Given the description of an element on the screen output the (x, y) to click on. 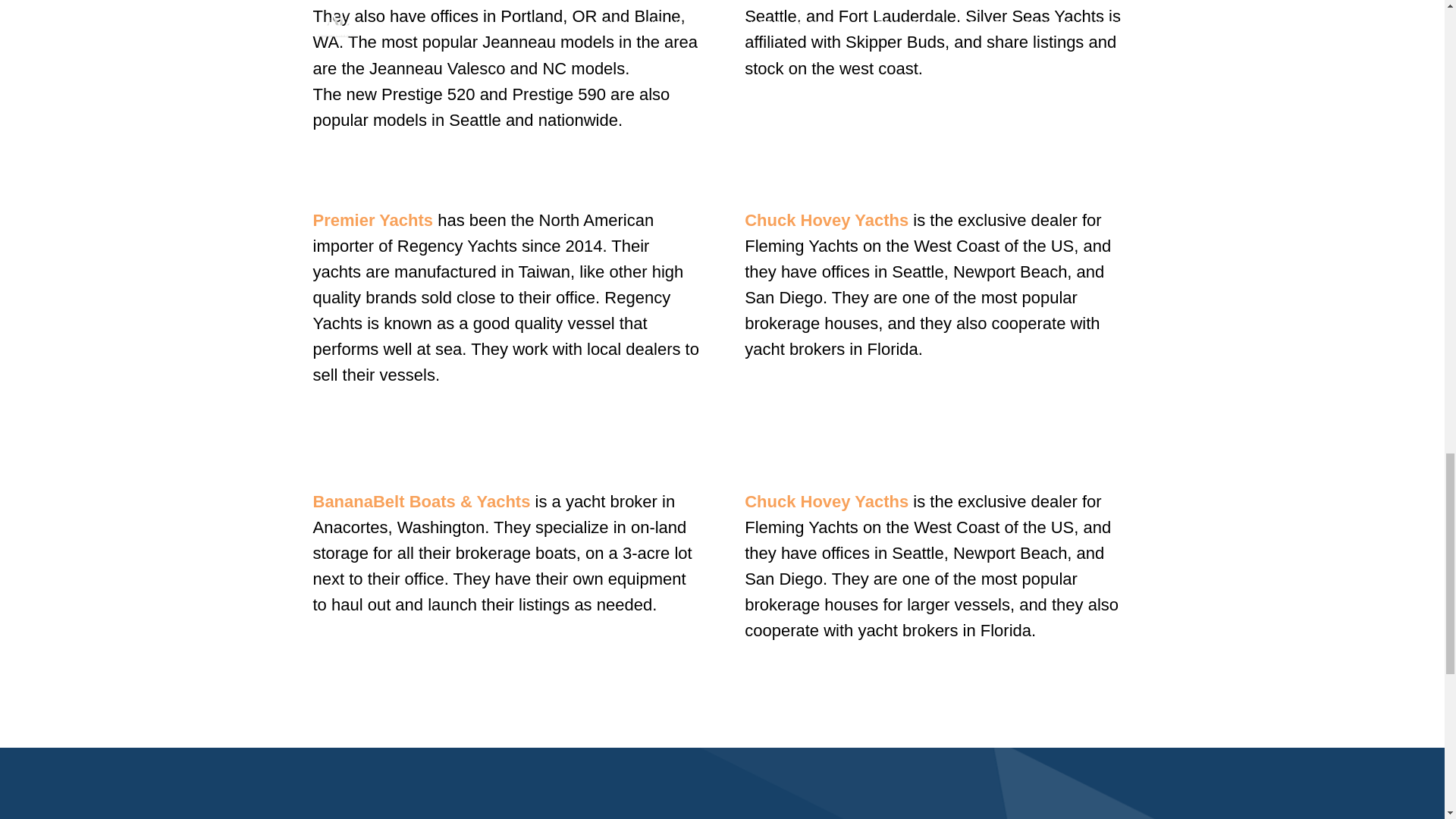
Premier Yachts for sale (372, 220)
Premier Yachts (372, 220)
Chuck Hovey Yacths (826, 501)
Chuck Hovey Yacths (826, 220)
New and Used Yachts For Sale (826, 220)
Used Boats For Sale (421, 501)
New and Used Yachts For Sale (826, 501)
